Given the description of an element on the screen output the (x, y) to click on. 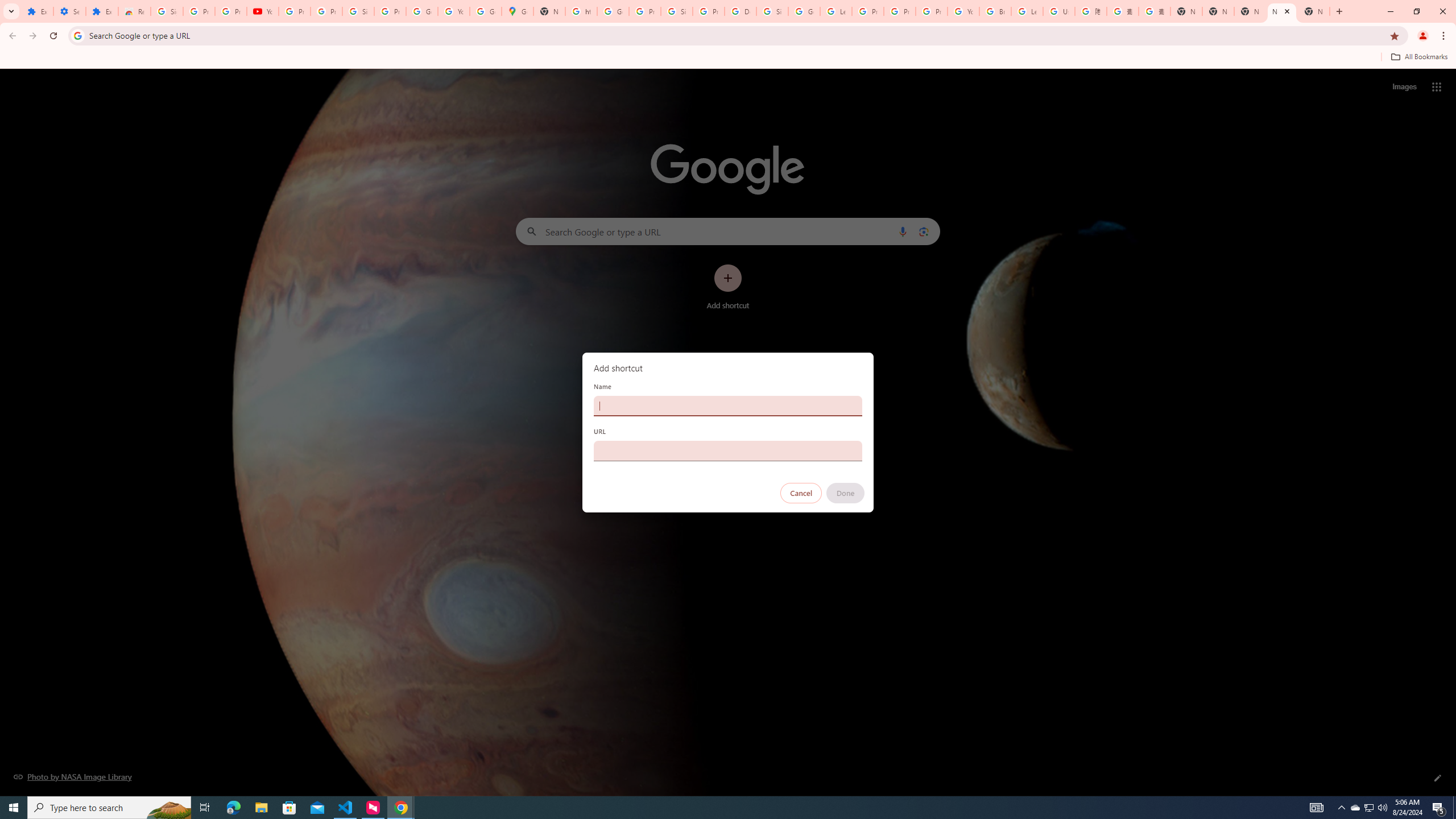
URL (727, 450)
Google Maps (517, 11)
